Given the description of an element on the screen output the (x, y) to click on. 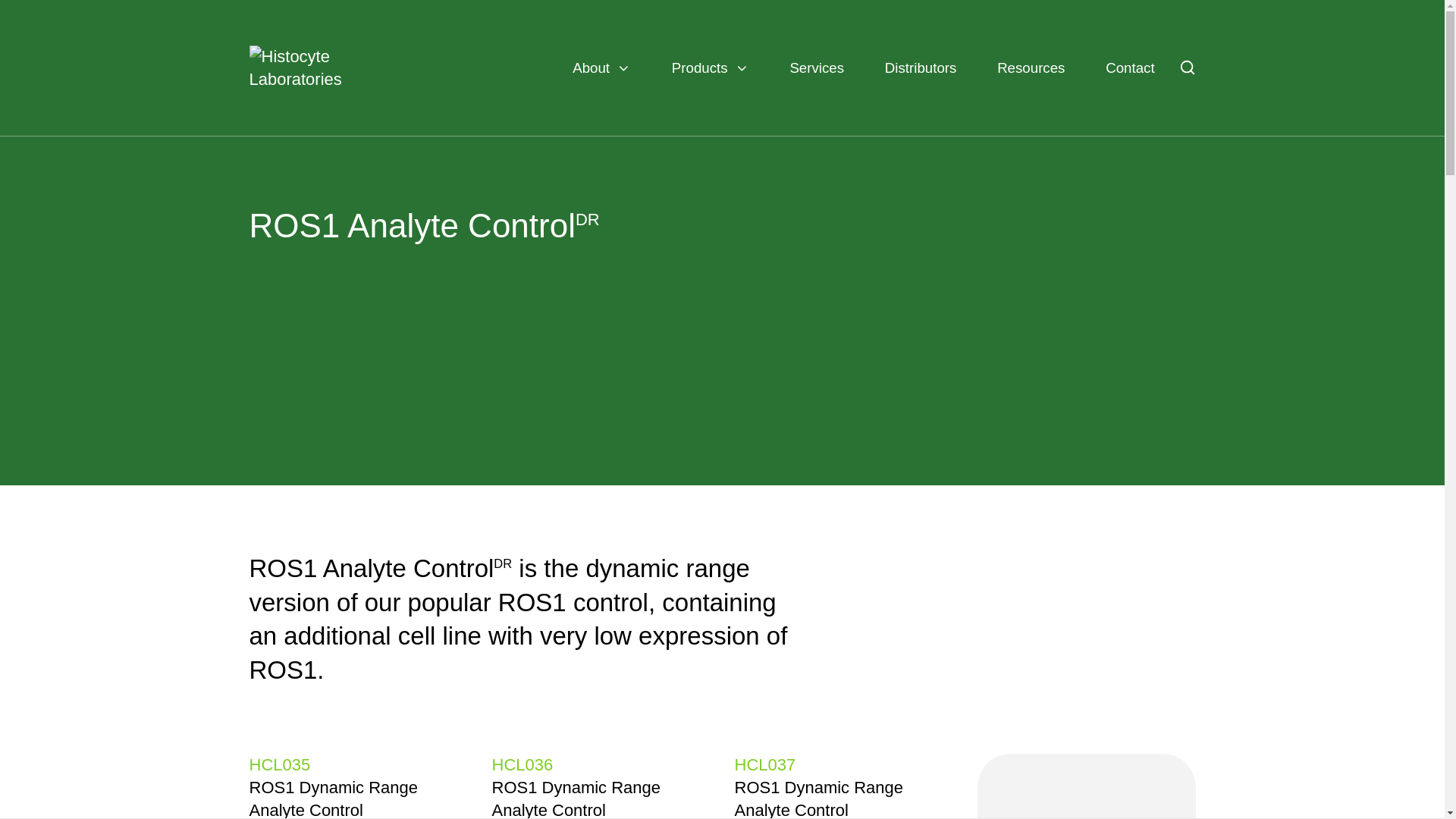
Contact (1129, 67)
Services (816, 67)
Products (710, 67)
Resources (1030, 67)
Distributors (920, 67)
About (601, 67)
